Given the description of an element on the screen output the (x, y) to click on. 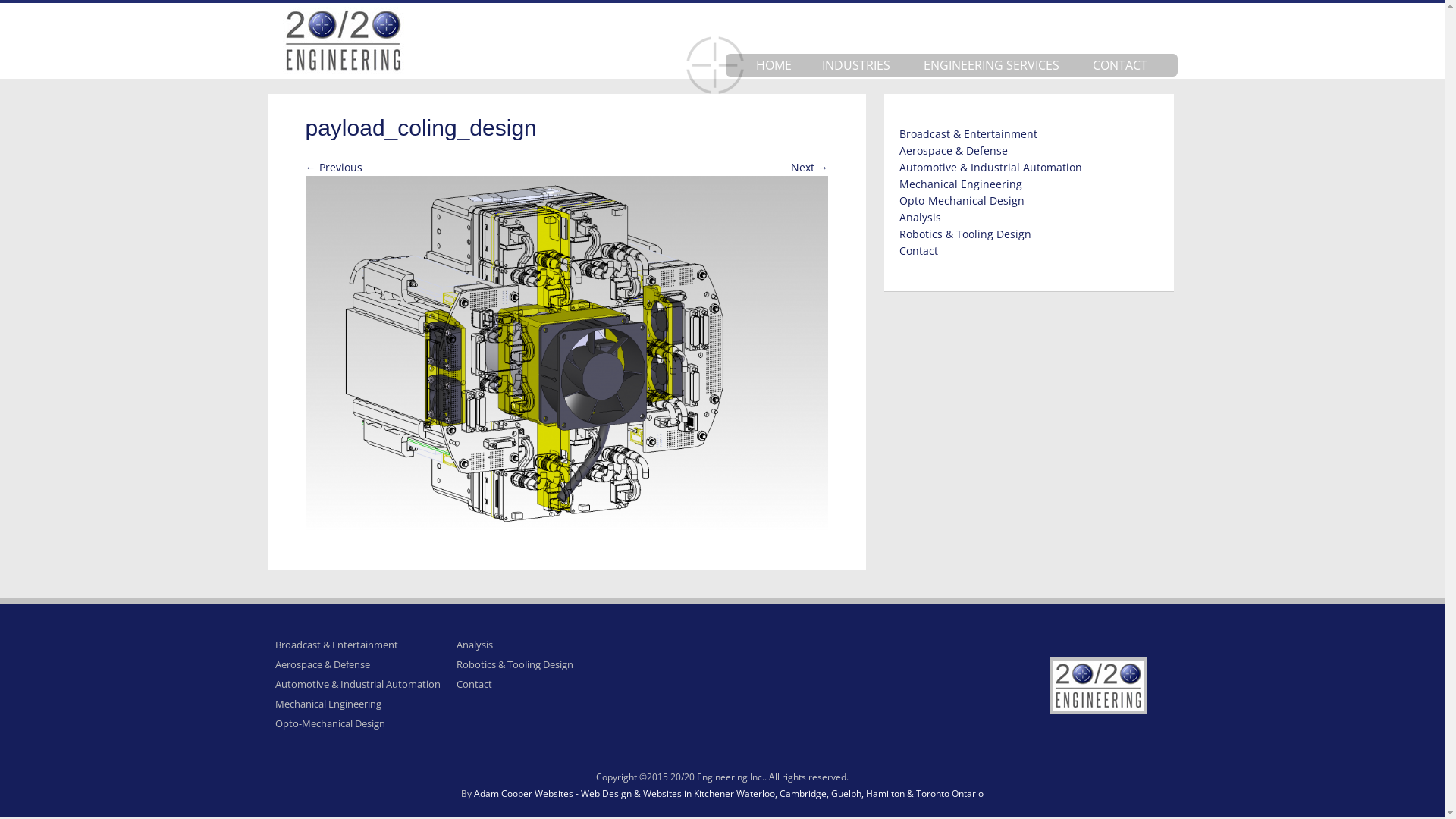
Automotive & Industrial Automation Element type: text (990, 167)
Contact Element type: text (474, 683)
Automotive & Industrial Automation Element type: text (356, 683)
Broadcast & Entertainment Element type: text (335, 644)
INDUSTRIES Element type: text (855, 64)
Robotics & Tooling Design Element type: text (965, 233)
ENGINEERING SERVICES Element type: text (991, 64)
Opto-Mechanical Design Element type: text (961, 200)
Robotics & Tooling Design Element type: text (514, 664)
Opto-Mechanical Design Element type: text (329, 723)
CONTACT Element type: text (1118, 64)
Mechanical Engineering Element type: text (960, 183)
Broadcast & Entertainment Element type: text (968, 133)
payload_coling_design Element type: hover (566, 352)
Contact Element type: text (918, 250)
Aerospace & Defense Element type: text (953, 150)
Skip to content Element type: text (1176, 53)
Mechanical Engineering Element type: text (327, 703)
Aerospace & Defense Element type: text (321, 664)
Analysis Element type: text (920, 217)
Analysis Element type: text (474, 644)
HOME Element type: text (773, 64)
